Given the description of an element on the screen output the (x, y) to click on. 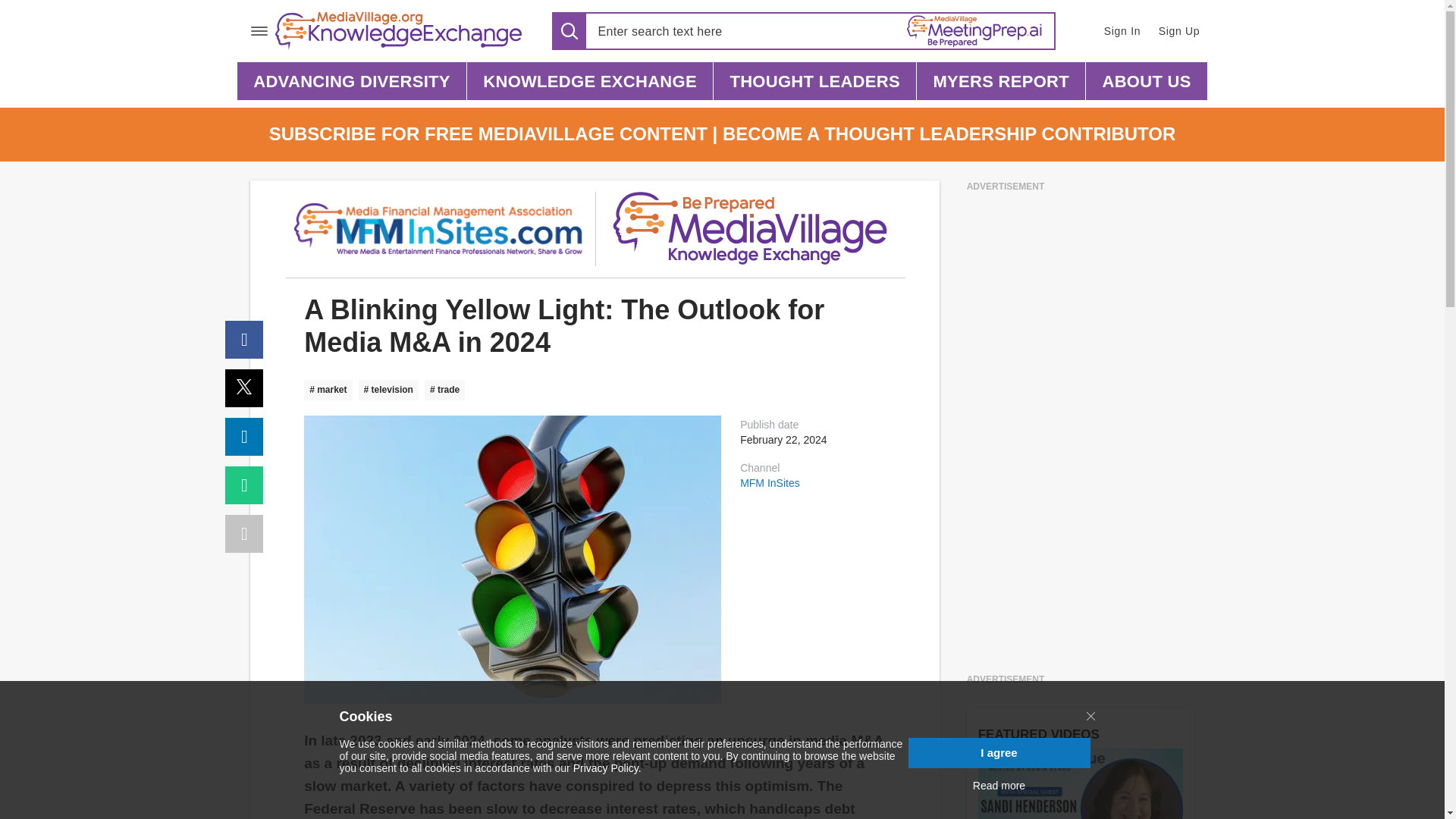
Sign Up (1179, 30)
THOUGHT LEADERS (814, 80)
Print (244, 533)
ADVANCING DIVERSITY (351, 80)
ABOUT US (1146, 80)
Email (244, 485)
Facebook (244, 339)
Twitter (244, 388)
KNOWLEDGE EXCHANGE (590, 80)
MFM InSites (769, 482)
MYERS REPORT (1000, 80)
LinkedIn (244, 436)
Sign In (1121, 30)
